Given the description of an element on the screen output the (x, y) to click on. 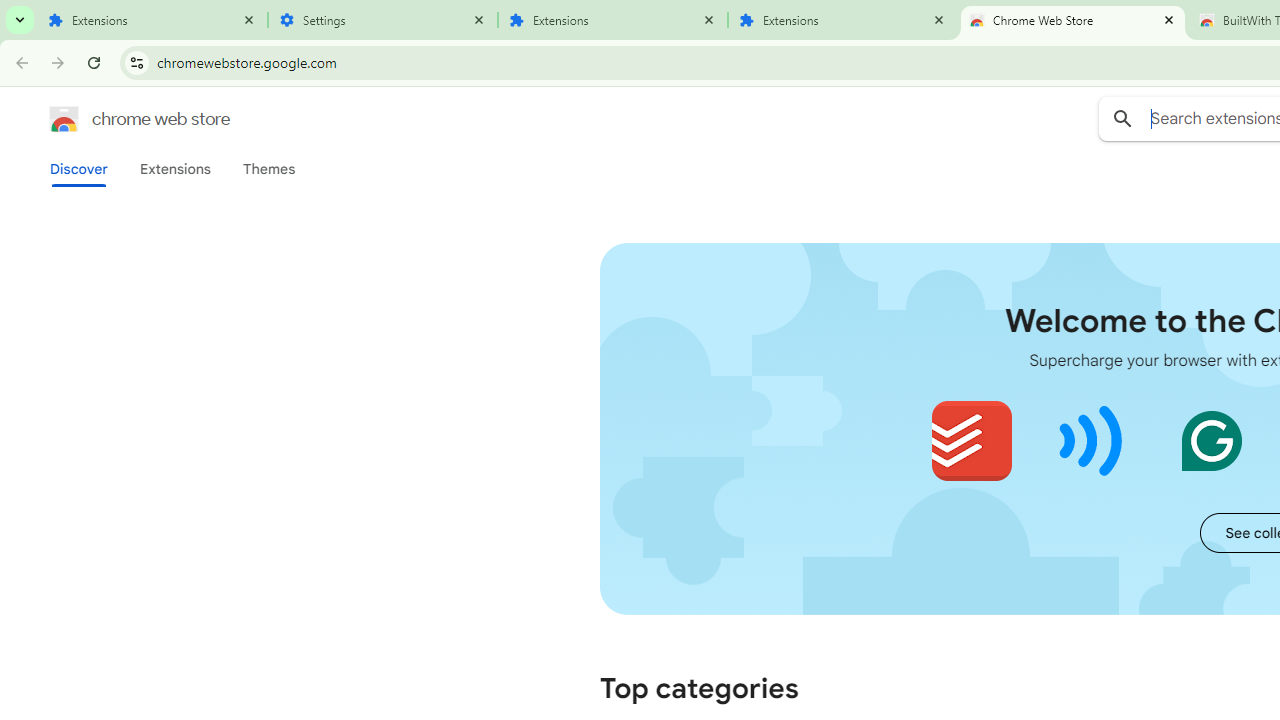
Chrome Web Store (1072, 20)
Todoist for Chrome (971, 440)
Extensions (612, 20)
Themes (269, 169)
Extensions (842, 20)
Discover (79, 169)
